Given the description of an element on the screen output the (x, y) to click on. 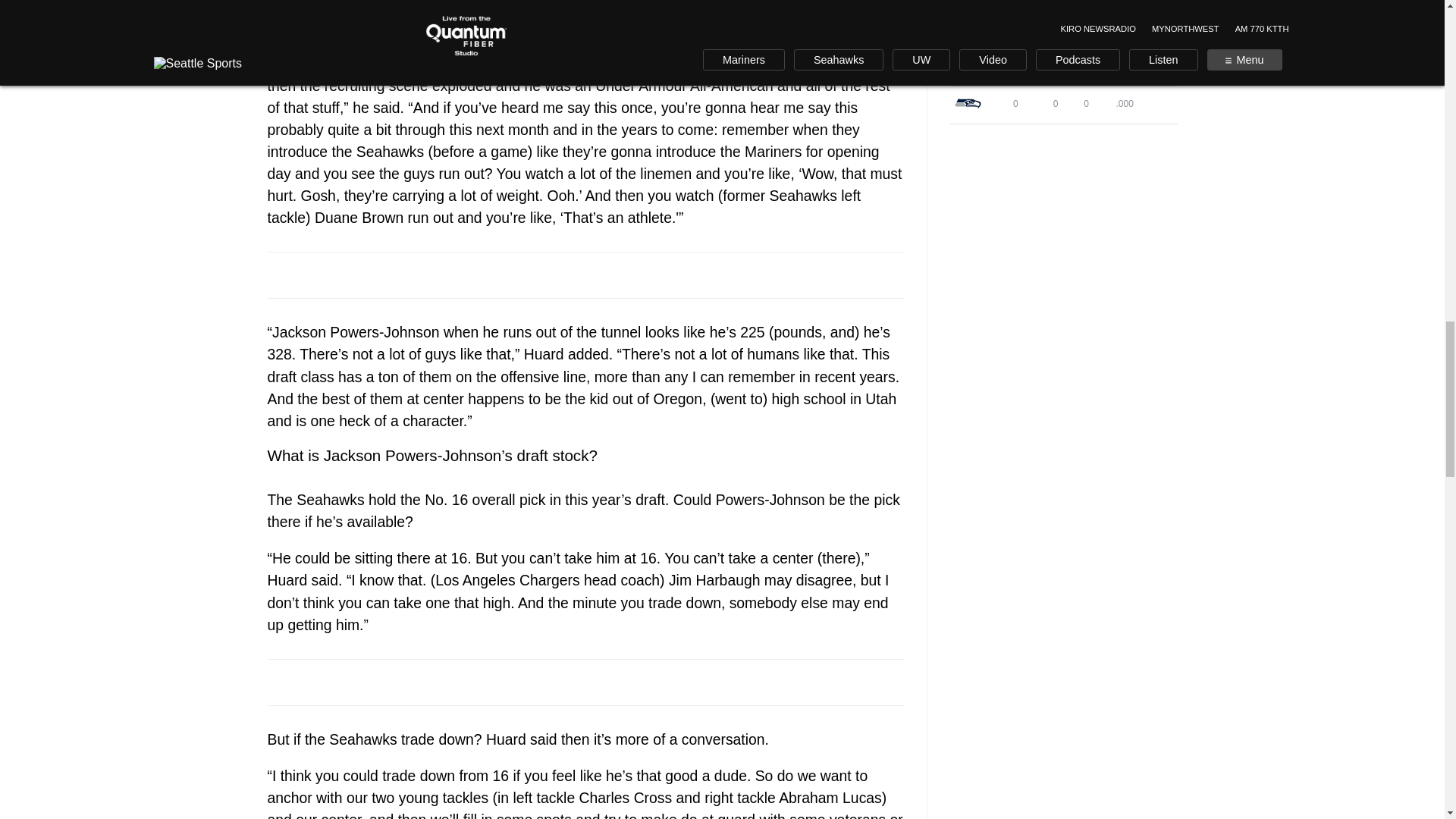
widget (1062, 62)
